Given the description of an element on the screen output the (x, y) to click on. 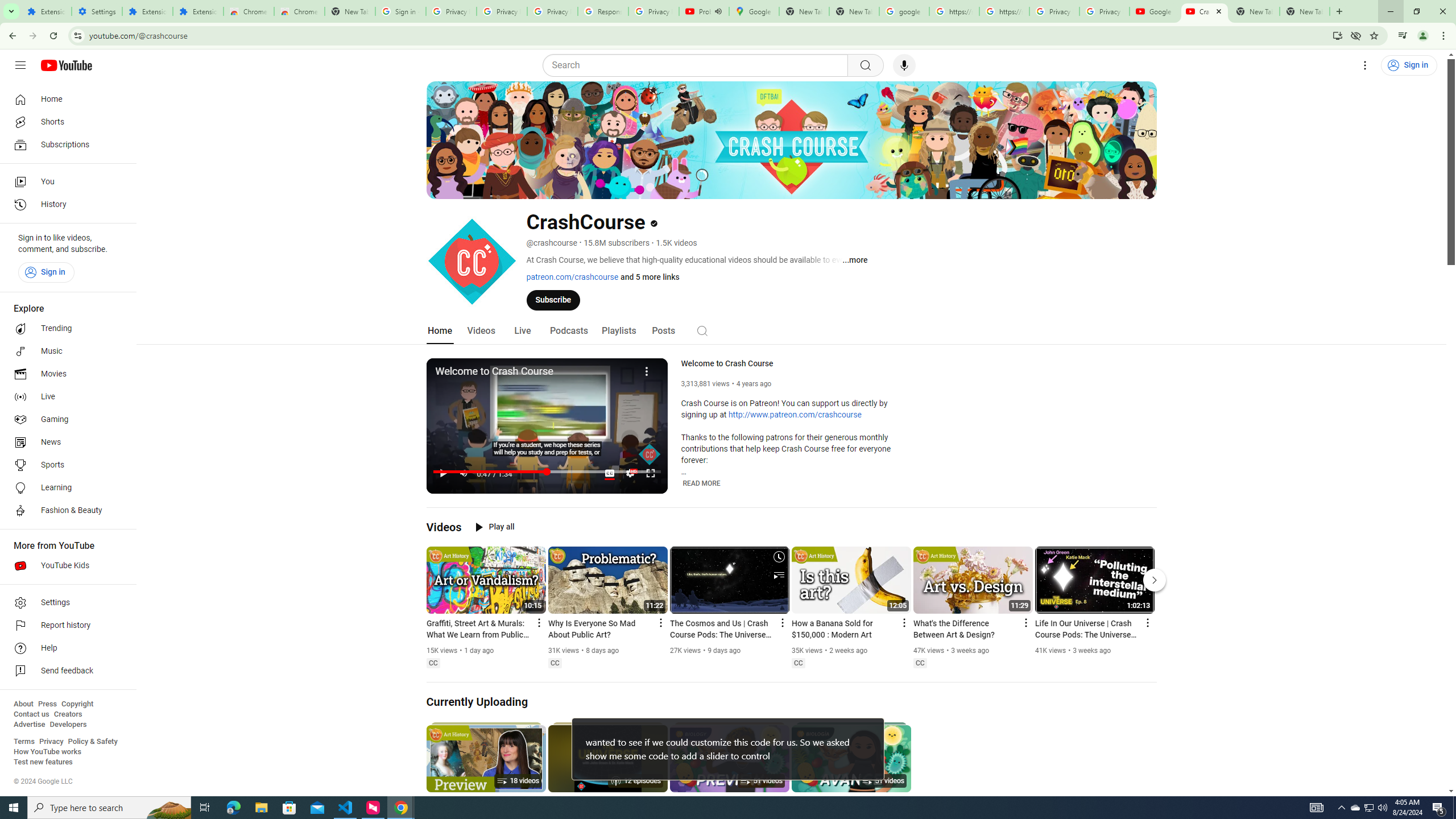
Developers (68, 724)
Closed captions (919, 662)
Full screen keyboard shortcut f (650, 472)
Reload (52, 35)
Search (697, 65)
Movies (64, 373)
Extensions (197, 11)
Bookmark this tab (1373, 35)
Settings (629, 472)
Report history (64, 625)
Control your music, videos, and more (1402, 35)
New Tab (350, 11)
Play all (494, 526)
Shorts (64, 121)
